Given the description of an element on the screen output the (x, y) to click on. 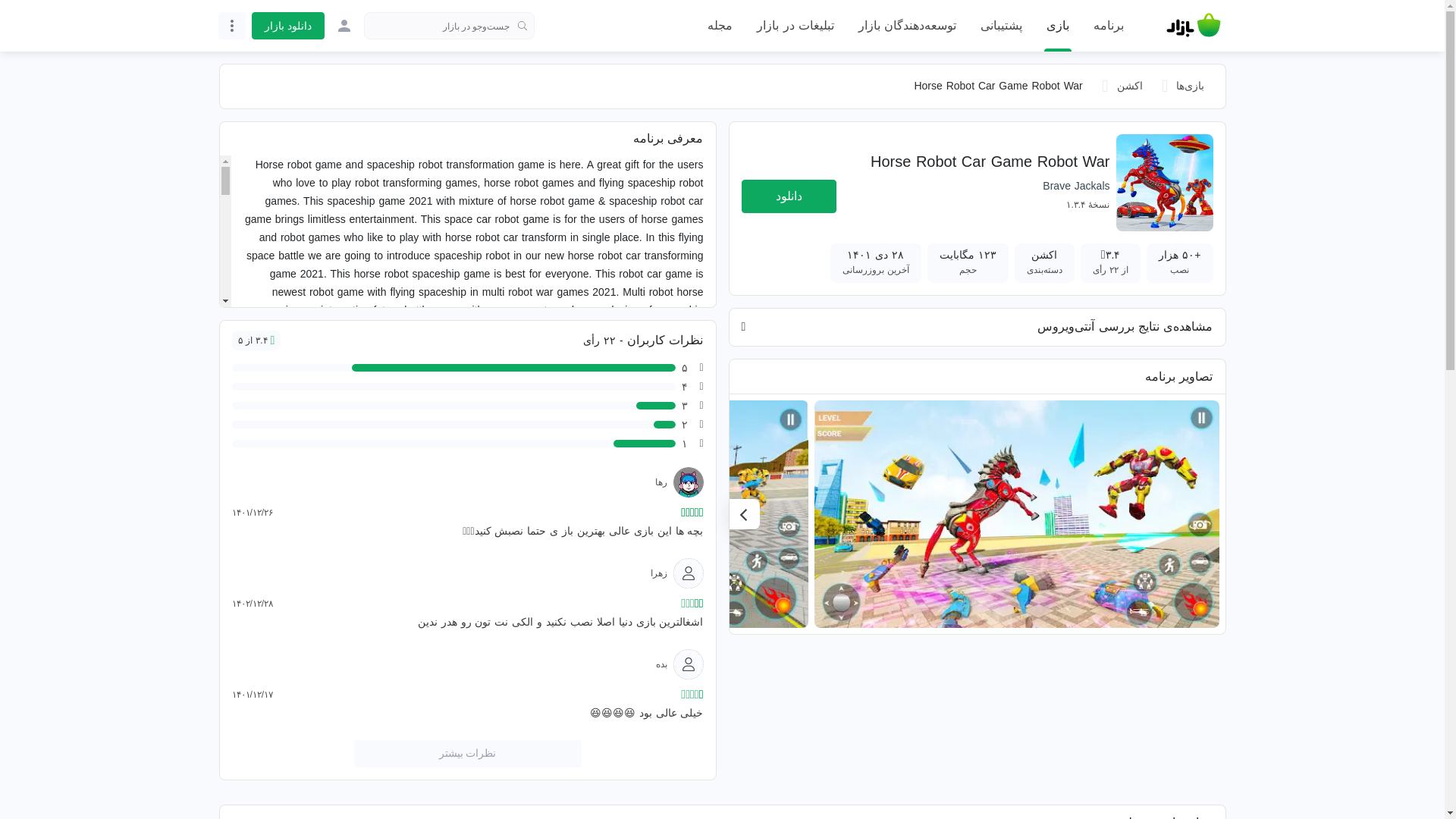
Brave Jackals (1075, 185)
